Given the description of an element on the screen output the (x, y) to click on. 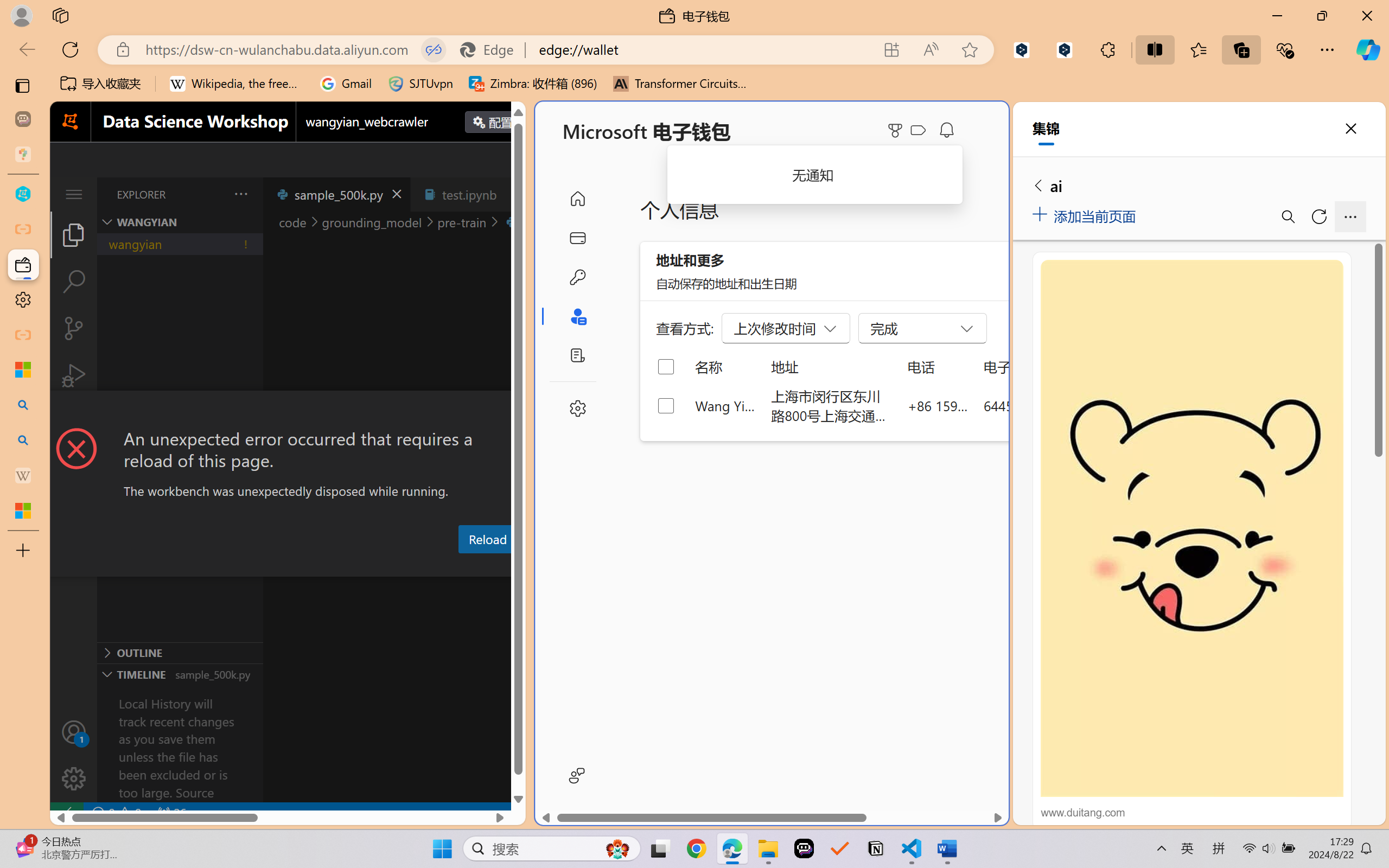
Class: menubar compact overflow-menu-only (73, 194)
Accounts - Sign in requested (73, 732)
Gmail (345, 83)
Tab actions (512, 194)
remote (66, 812)
